Given the description of an element on the screen output the (x, y) to click on. 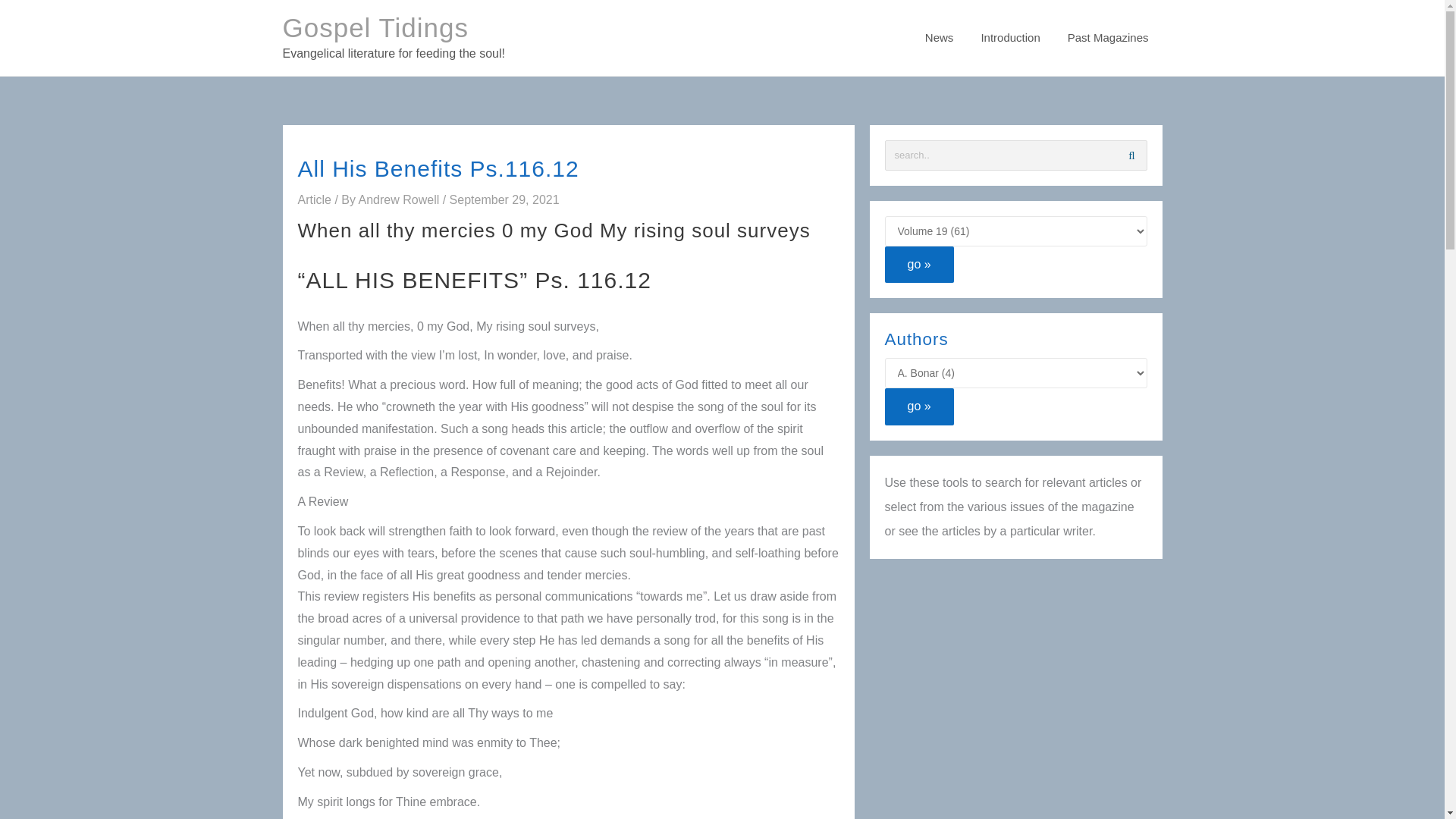
Article (313, 199)
Search (1131, 155)
Past Magazines (1107, 37)
Search (1131, 155)
View all posts by Andrew Rowell (400, 199)
Introduction (1009, 37)
Gospel Tidings (375, 27)
News (939, 37)
Andrew Rowell (400, 199)
